Given the description of an element on the screen output the (x, y) to click on. 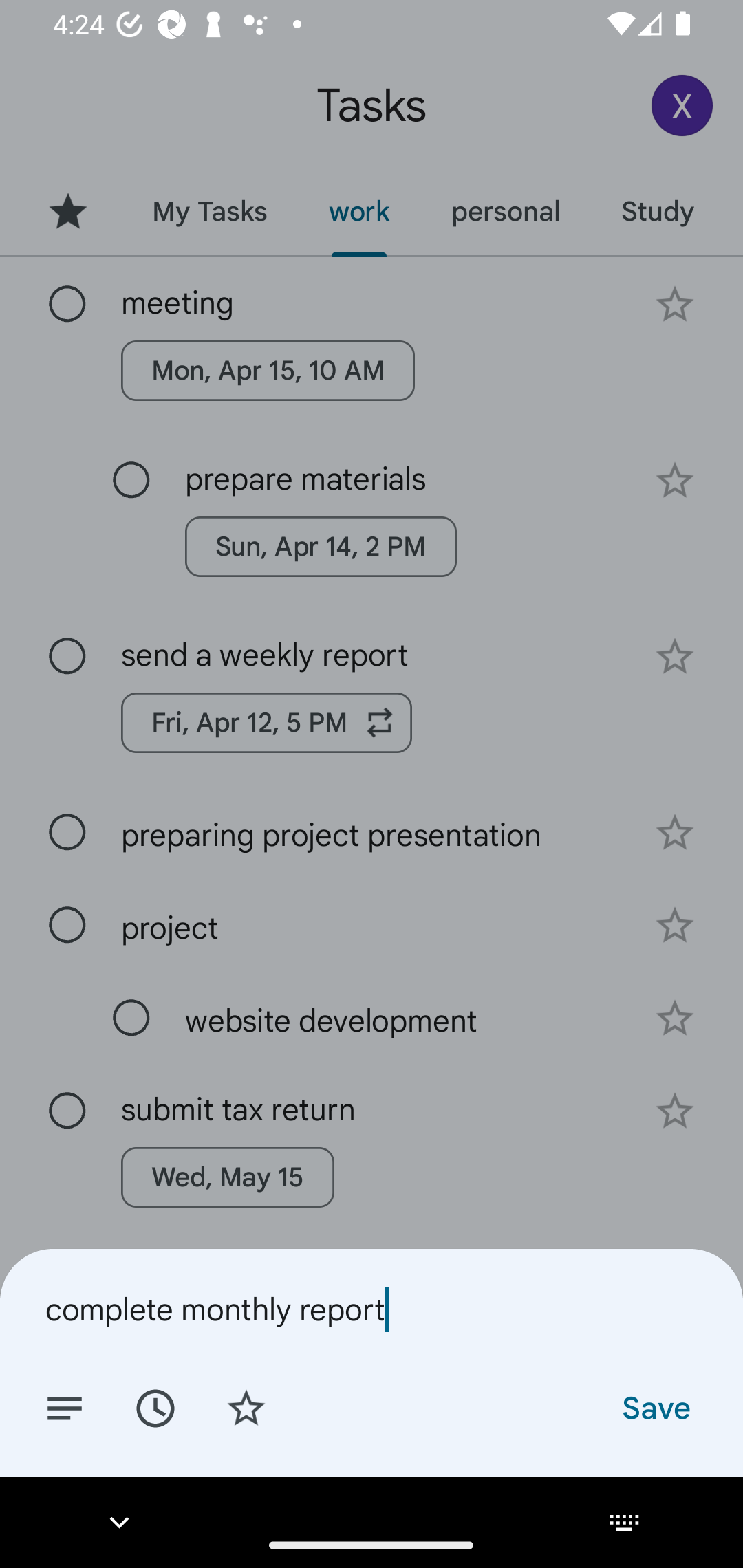
complete monthly report (371, 1308)
Save (655, 1407)
Add details (64, 1407)
Set date/time (154, 1407)
Add star (245, 1407)
